Given the description of an element on the screen output the (x, y) to click on. 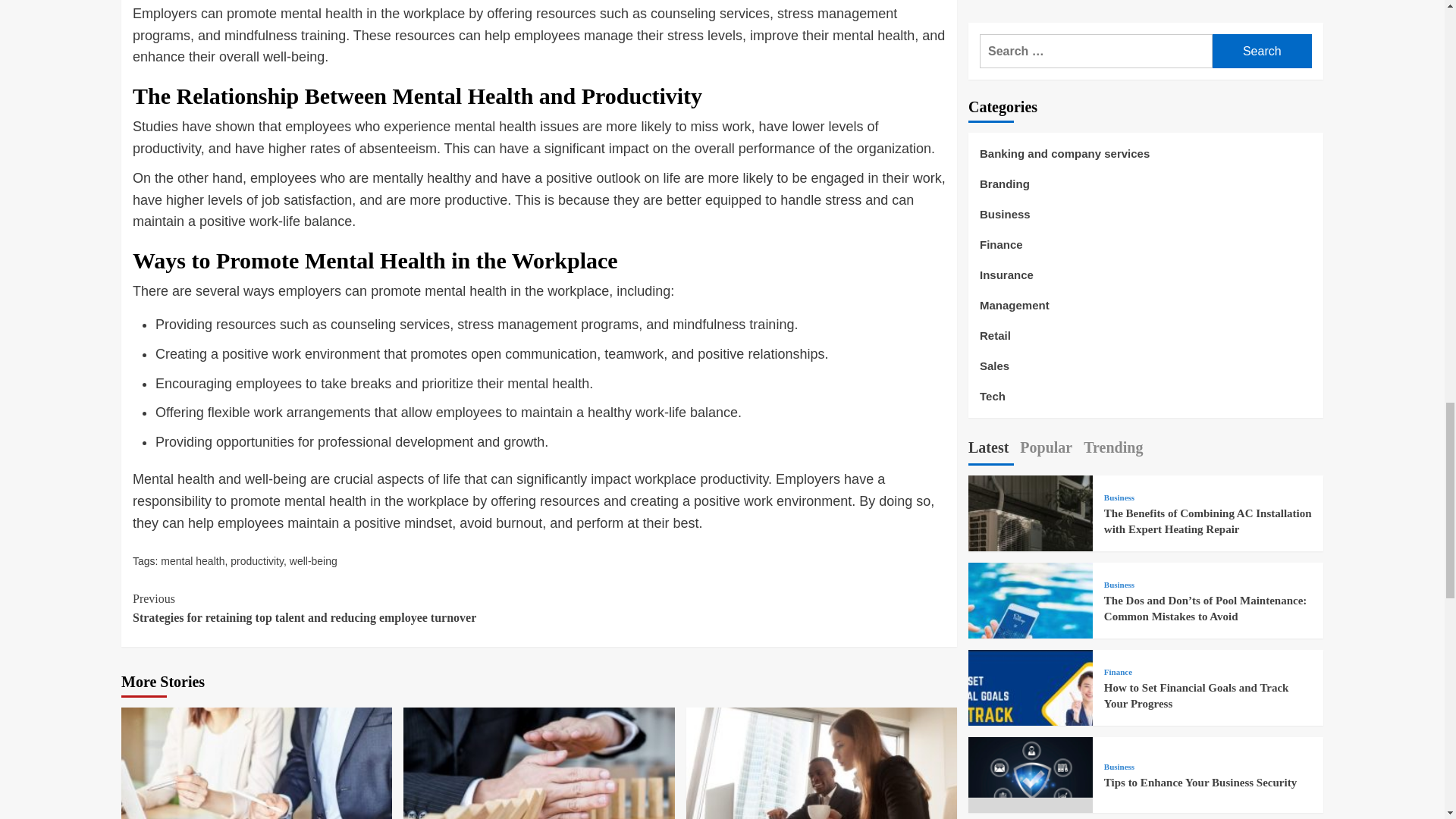
well-being (313, 561)
productivity (256, 561)
mental health (192, 561)
